Given the description of an element on the screen output the (x, y) to click on. 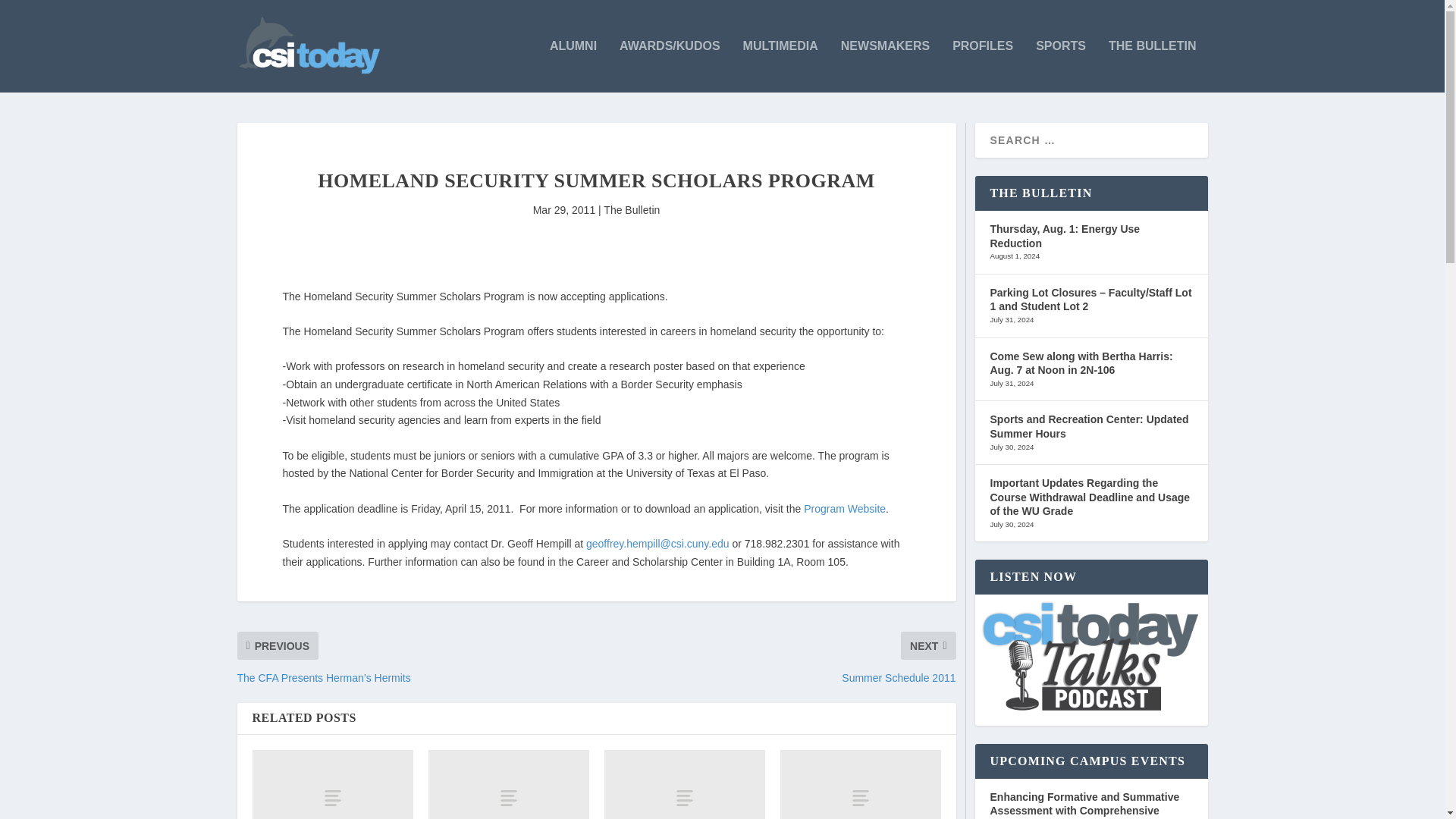
THE BULLETIN (1152, 66)
Student Life Events and Activities, Week of Nov. 9 (508, 784)
MULTIMEDIA (780, 66)
ALUMNI (573, 66)
PROFILES (982, 66)
NEWSMAKERS (885, 66)
SPORTS (1060, 66)
